Given the description of an element on the screen output the (x, y) to click on. 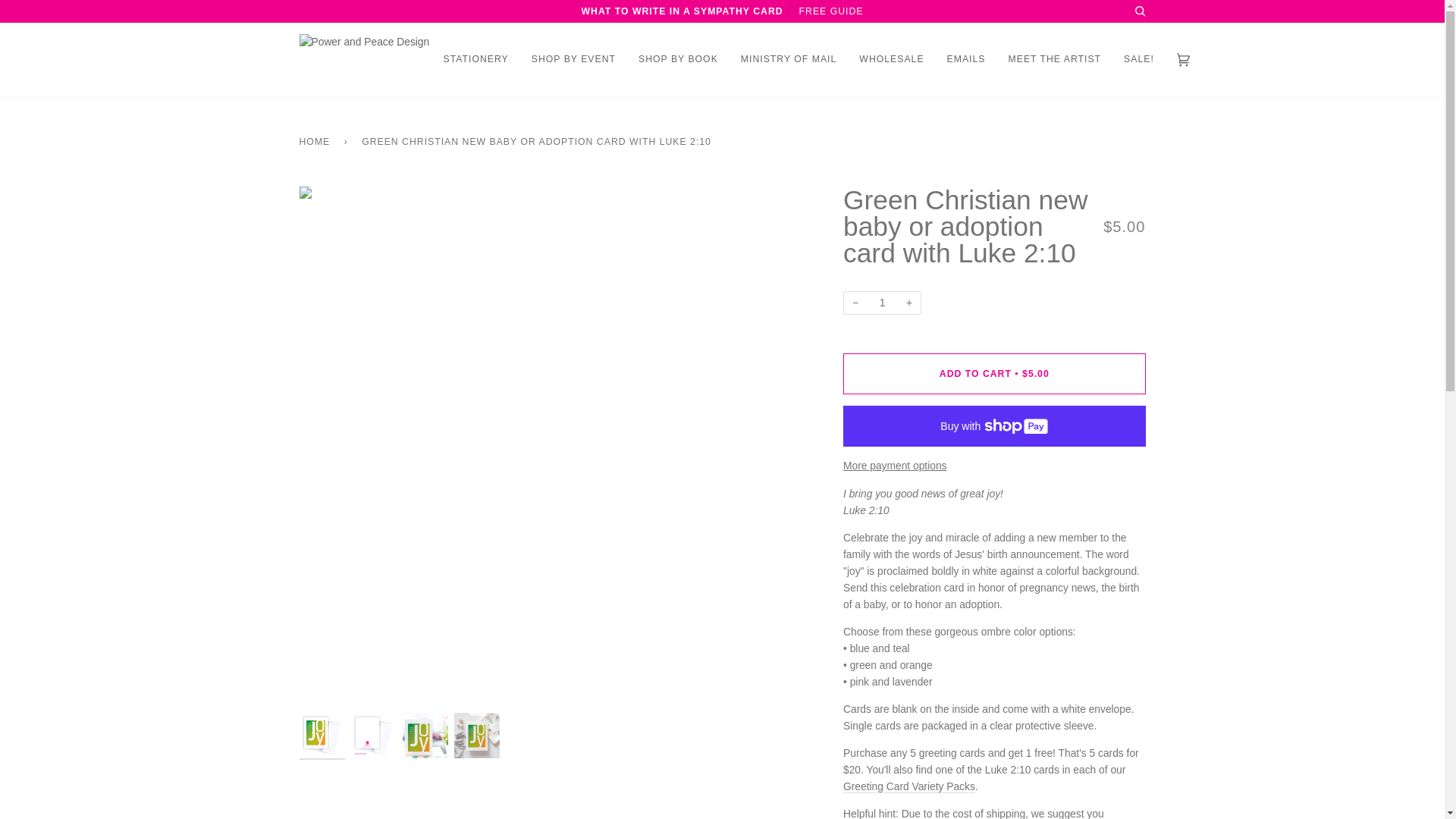
modern Christian greeting card variety pack (909, 786)
WHAT TO WRITE IN A SYMPATHY CARDFREE GUIDE (721, 10)
Back to the frontpage (316, 141)
SHOP BY EVENT (573, 59)
STATIONERY (475, 59)
1 (882, 303)
SHOP BY BOOK (678, 59)
